Given the description of an element on the screen output the (x, y) to click on. 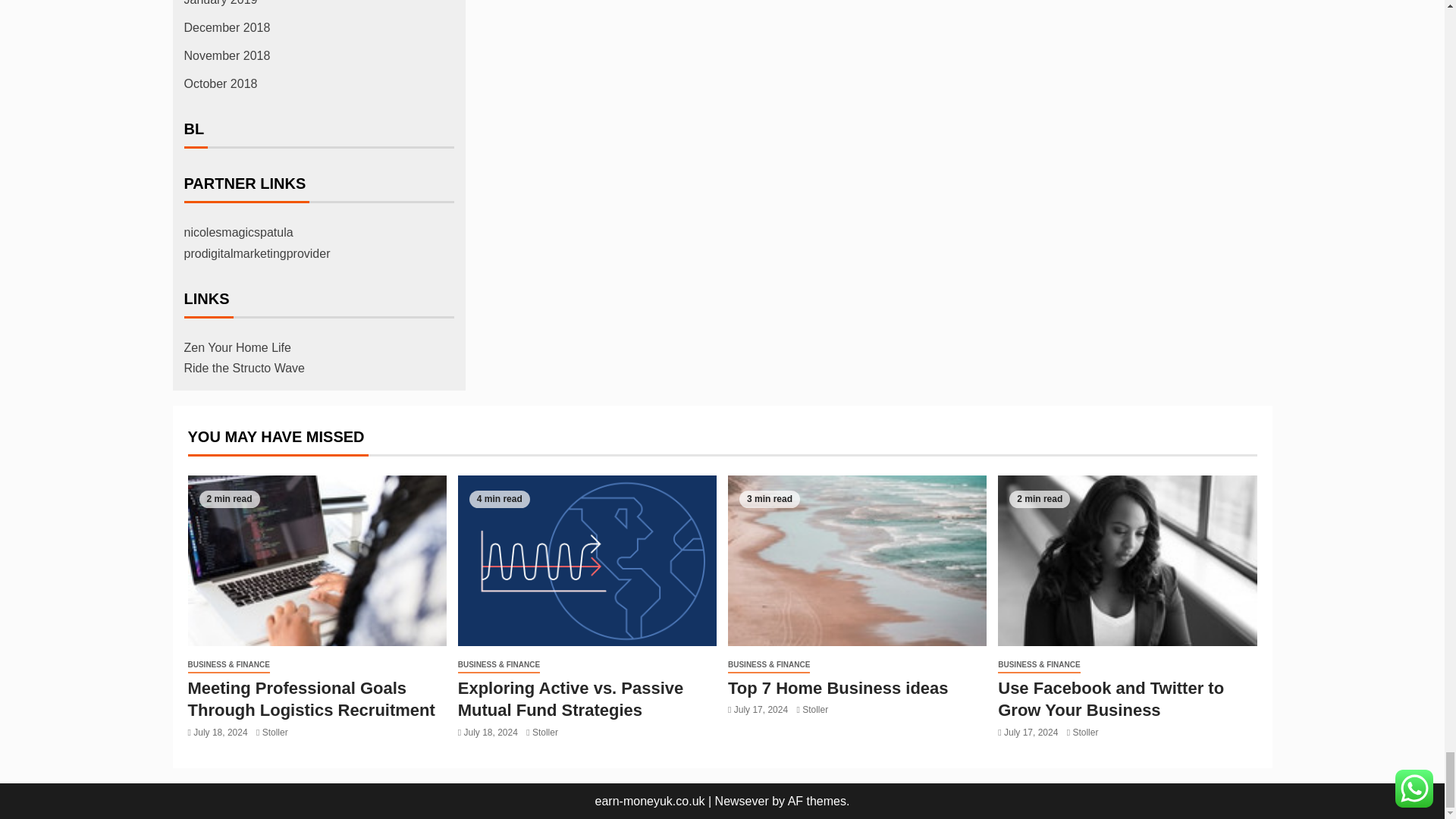
Meeting Professional Goals Through Logistics Recruitment (316, 560)
Exploring Active vs. Passive Mutual Fund Strategies (587, 560)
Top 7 Home Business ideas (857, 560)
